Given the description of an element on the screen output the (x, y) to click on. 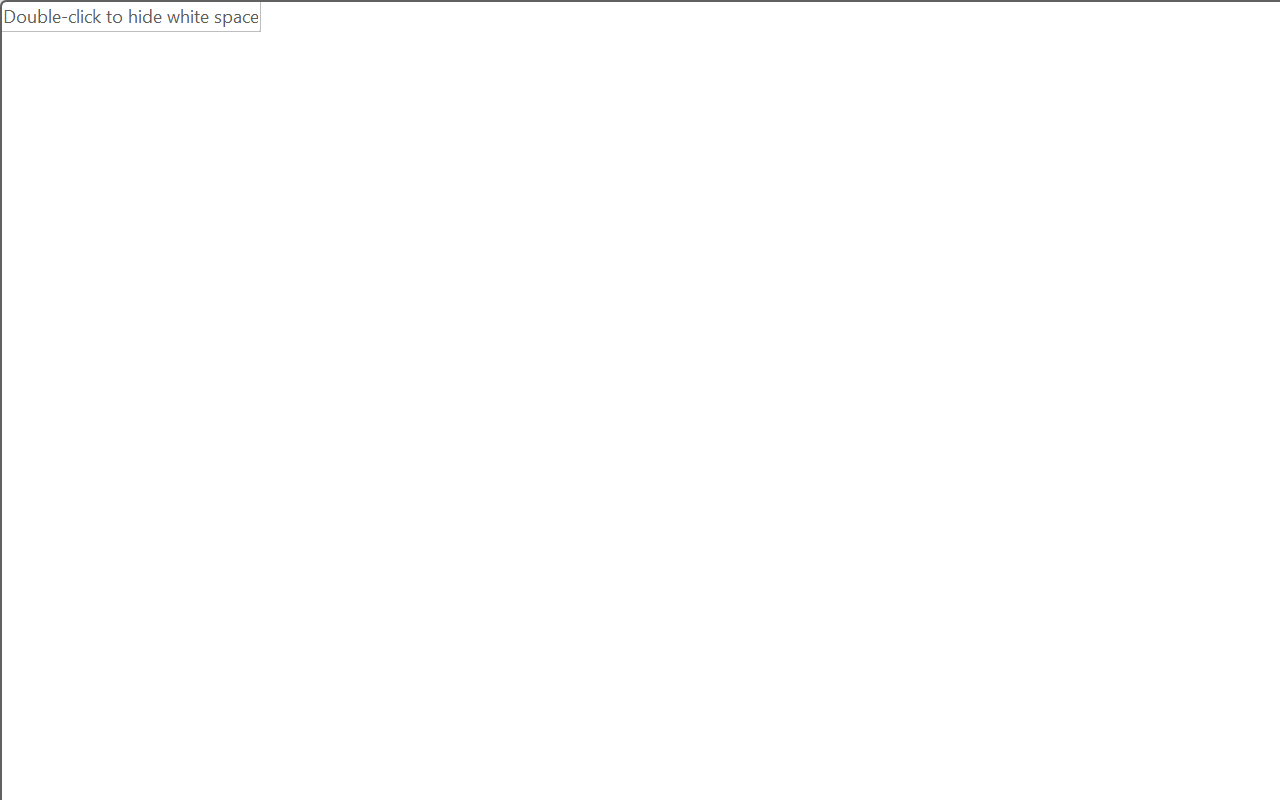
Clear Formatting (578, 153)
Asian Layout (1000, 153)
Text Effects and Typography (444, 201)
Justify (834, 201)
Align Right (794, 201)
Shrink Font (468, 153)
Help (1013, 94)
Subscript (350, 201)
